Given the description of an element on the screen output the (x, y) to click on. 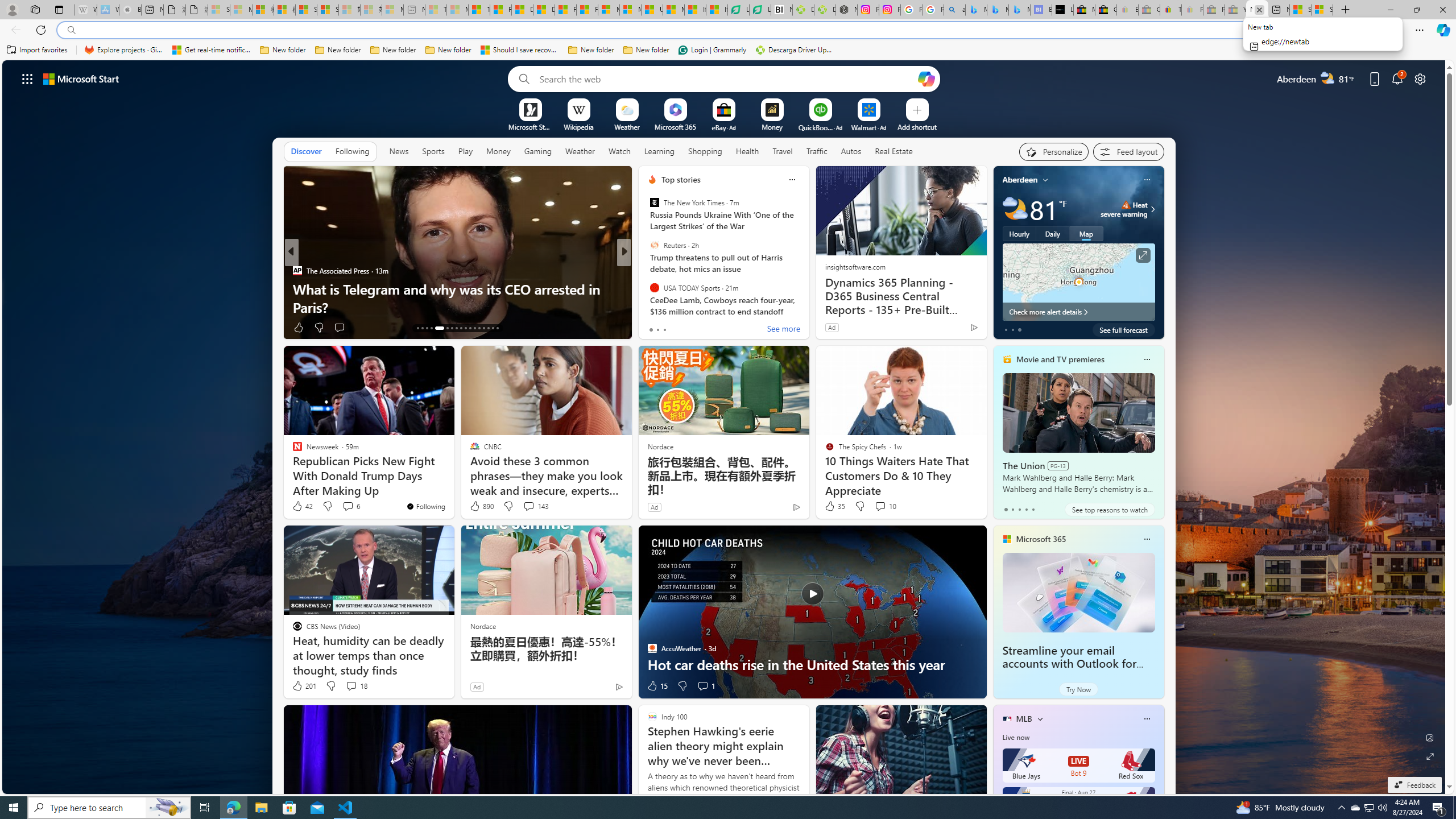
21 Like (652, 327)
AutomationID: tab-14 (422, 328)
View comments 18 Comment (355, 685)
AutomationID: tab-18 (444, 328)
Play (465, 151)
AutomationID: tab-16 (431, 328)
AutomationID: tab-21 (460, 328)
View comments 143 Comment (535, 505)
Sign in to your Microsoft account (1322, 9)
tab-4 (1032, 509)
Travel (782, 151)
